Given the description of an element on the screen output the (x, y) to click on. 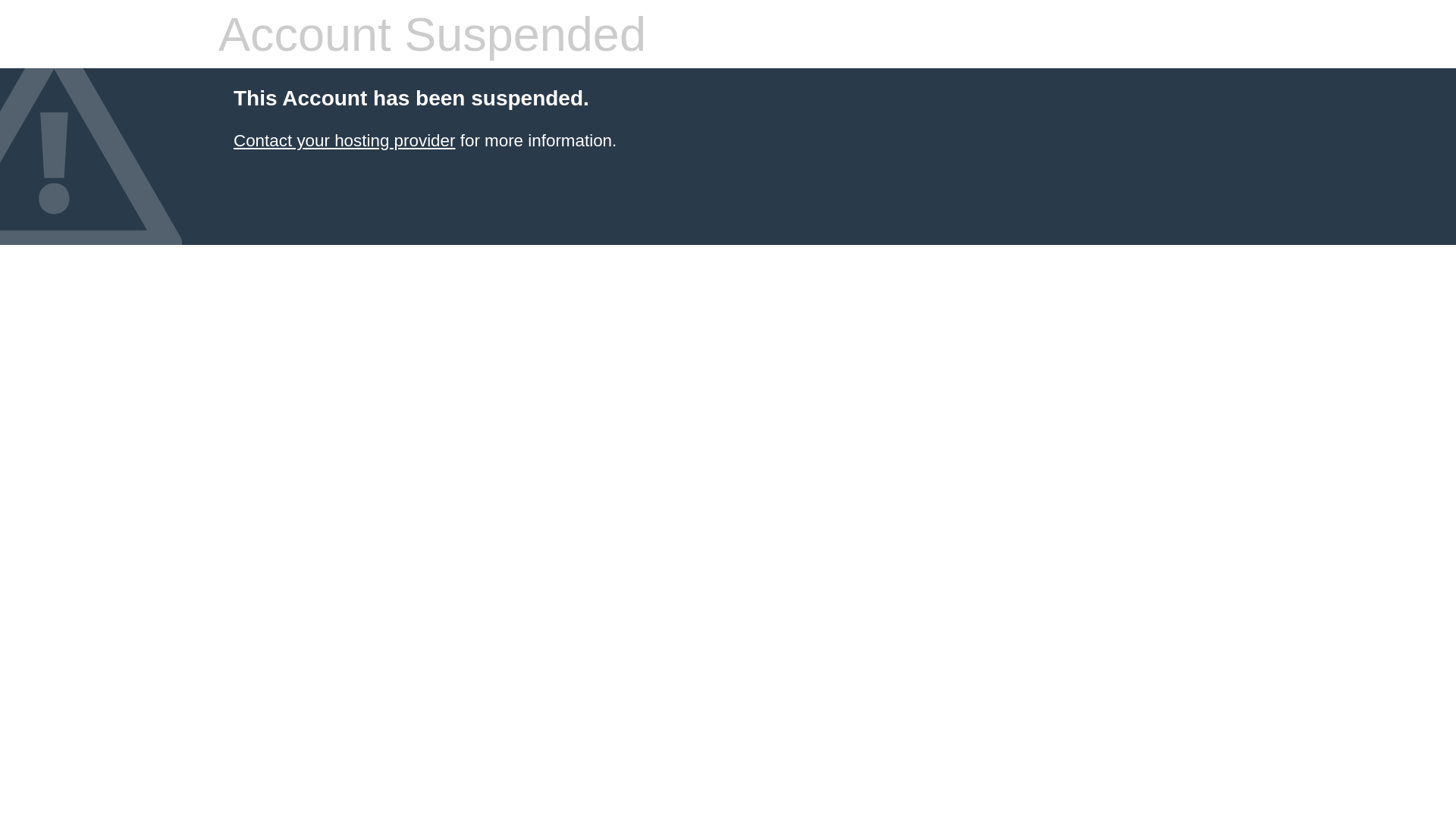
Contact your hosting provider Element type: text (344, 140)
